Given the description of an element on the screen output the (x, y) to click on. 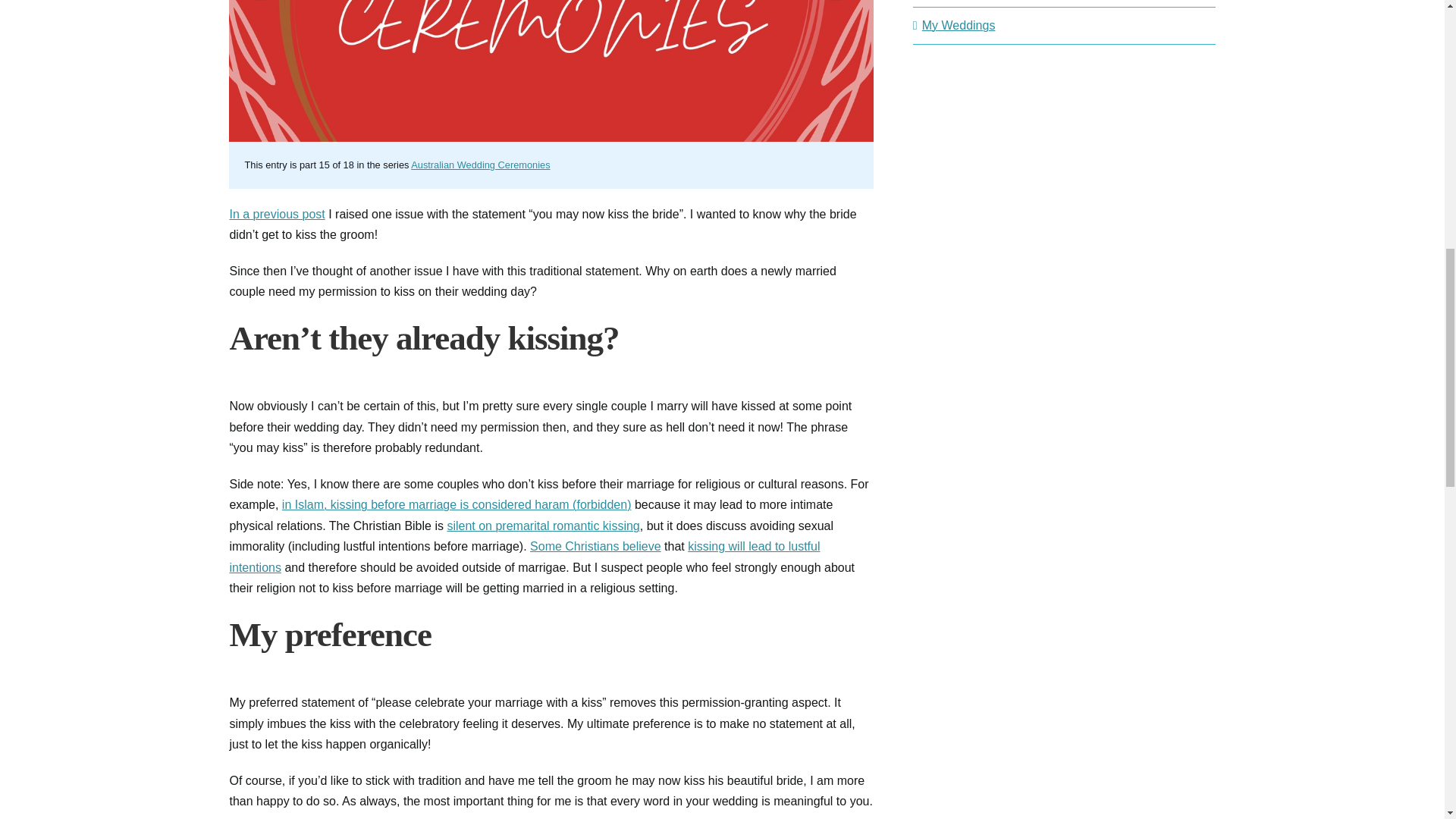
Australian Wedding Ceremonies (480, 164)
wedding-ceremonies-banner (550, 70)
kissing will lead to lustful intentions (523, 556)
silent on premarital romantic kissing (542, 525)
In a previous post (276, 214)
Australian Wedding Ceremonies (480, 164)
Some Christians believe (595, 545)
